Given the description of an element on the screen output the (x, y) to click on. 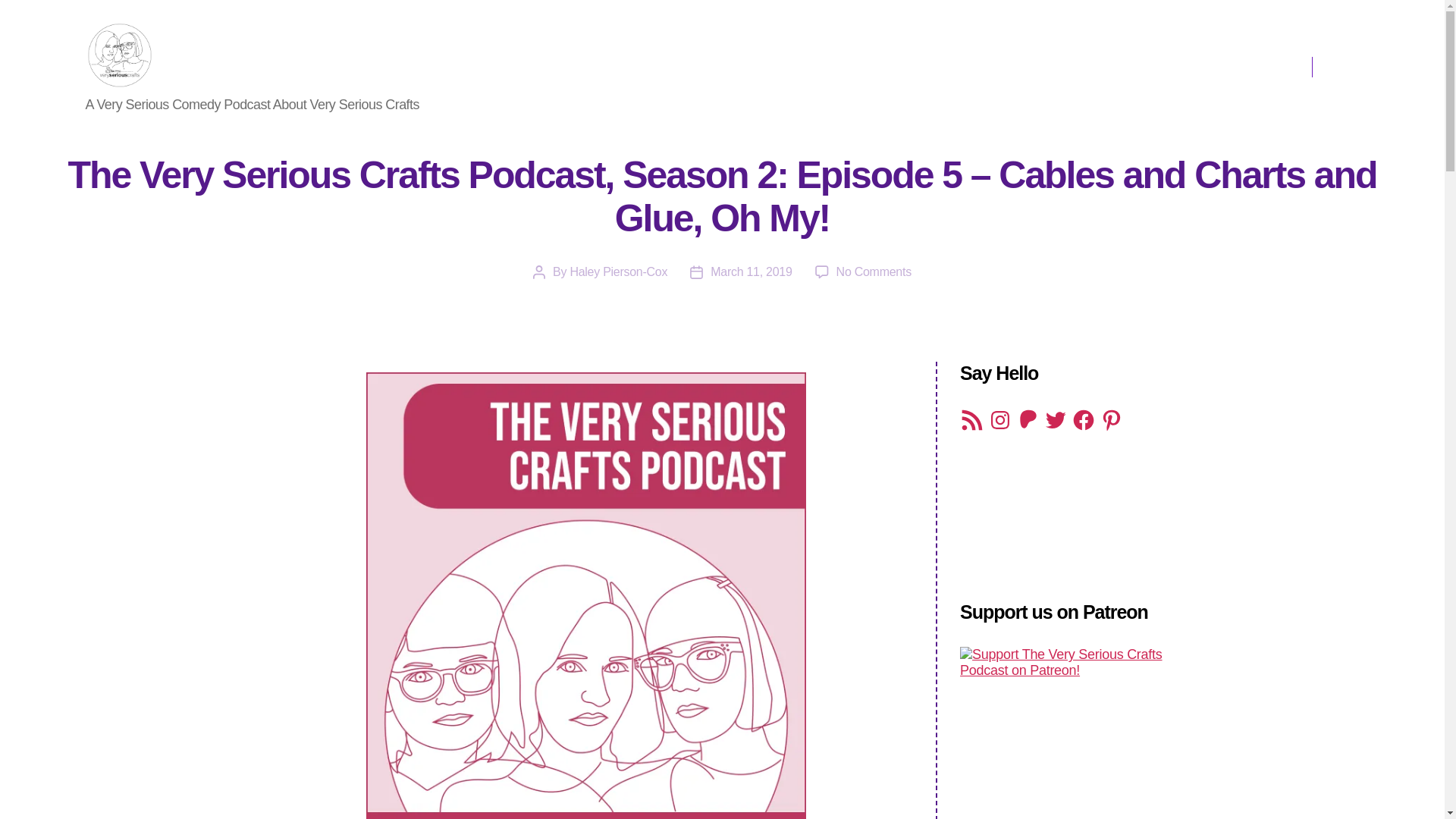
Privacy Policy (1241, 55)
Half-Stitched (1030, 55)
Haley Pierson-Cox (617, 271)
Advertise on Our Podcast (1207, 77)
News (1102, 55)
Search (1350, 66)
March 11, 2019 (751, 271)
Listen and Subscribe (842, 55)
Episodes (948, 55)
About (747, 55)
Home (694, 55)
Contact (1160, 55)
Support us on Patreon (1067, 733)
